Given the description of an element on the screen output the (x, y) to click on. 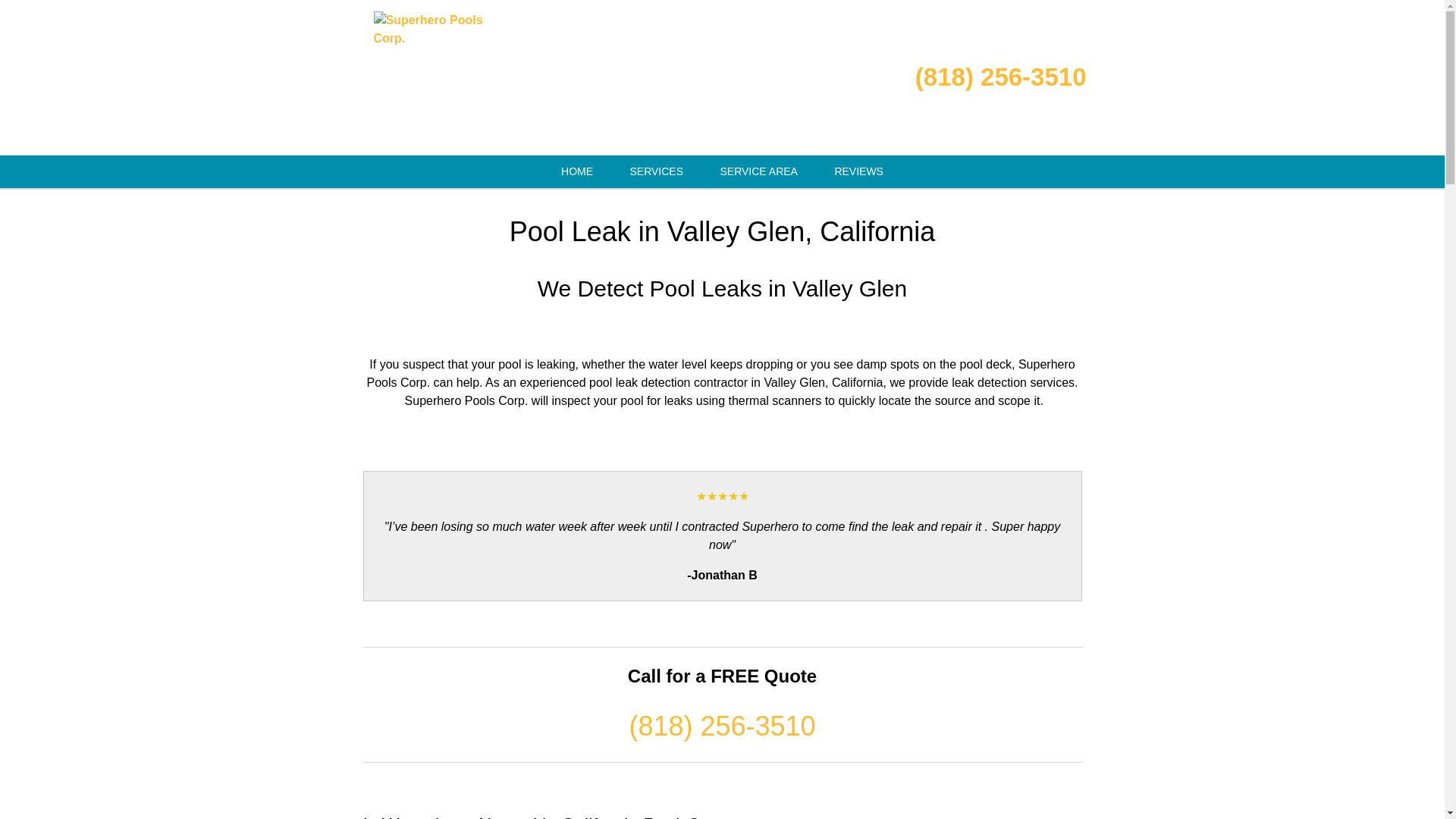
SERVICE AREA (758, 171)
SERVICES (656, 171)
REVIEWS (857, 171)
HOME (577, 171)
